Given the description of an element on the screen output the (x, y) to click on. 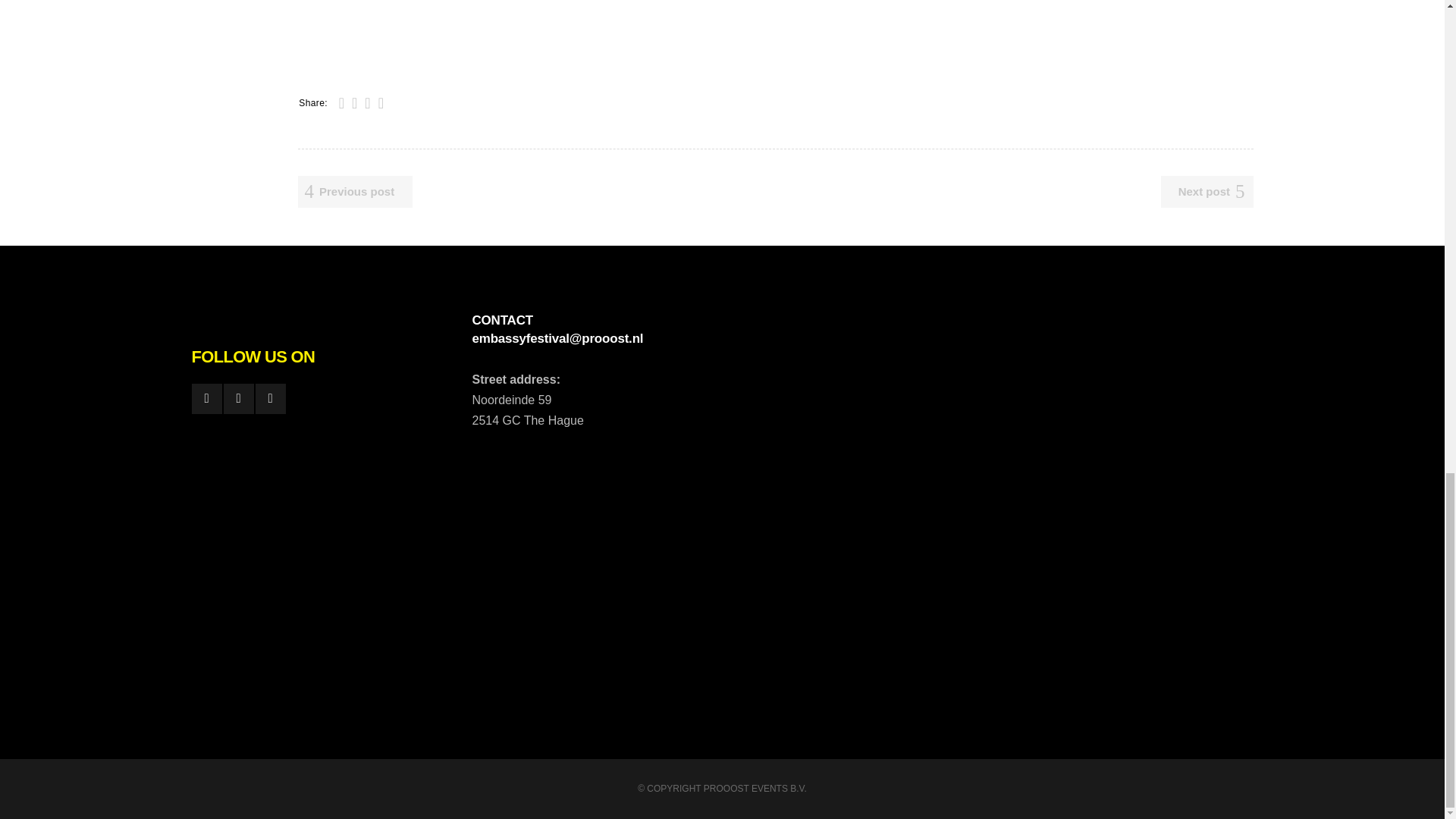
Share on Pinterest (381, 103)
Share on Twitter (354, 103)
Previous post (354, 192)
Share on Facebook (341, 103)
Share on LinkedIn (367, 103)
Next post (1206, 192)
